Given the description of an element on the screen output the (x, y) to click on. 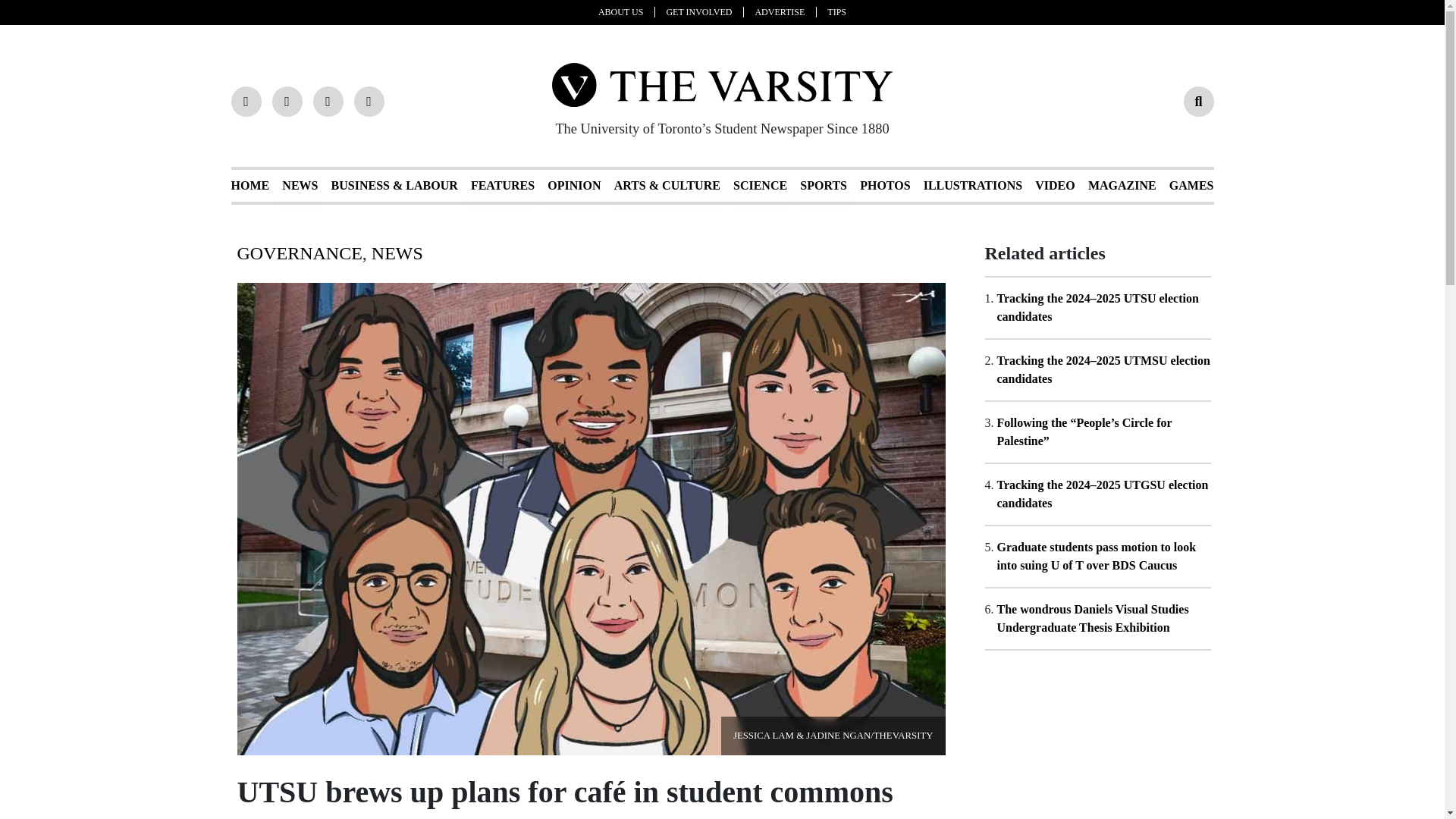
ABOUT US (626, 11)
GET INVOLVED (704, 11)
ADVERTISE (785, 11)
TIPS (836, 11)
